Given the description of an element on the screen output the (x, y) to click on. 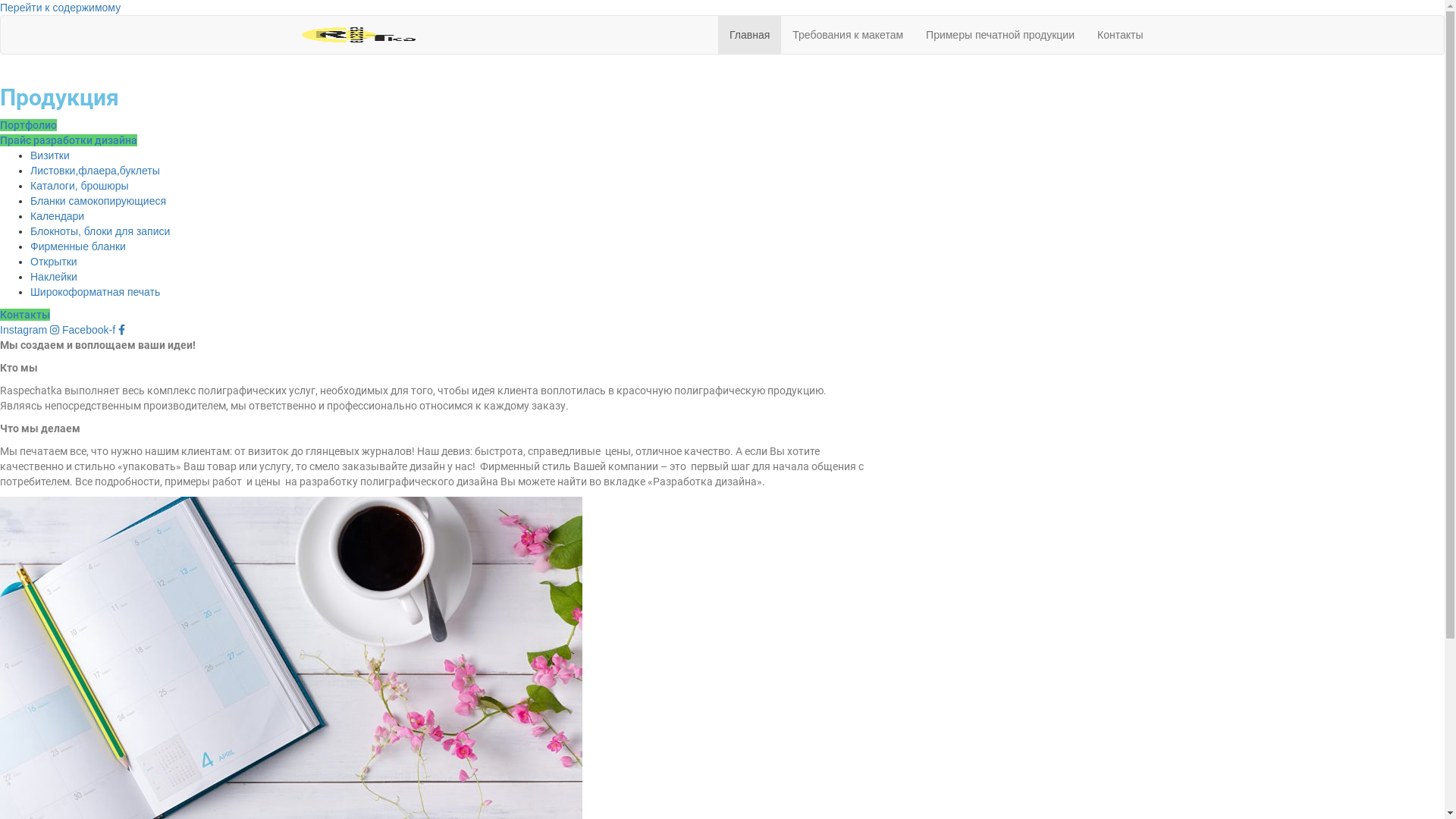
Instagram Element type: text (31, 329)
Facebook-f Element type: text (93, 329)
